Given the description of an element on the screen output the (x, y) to click on. 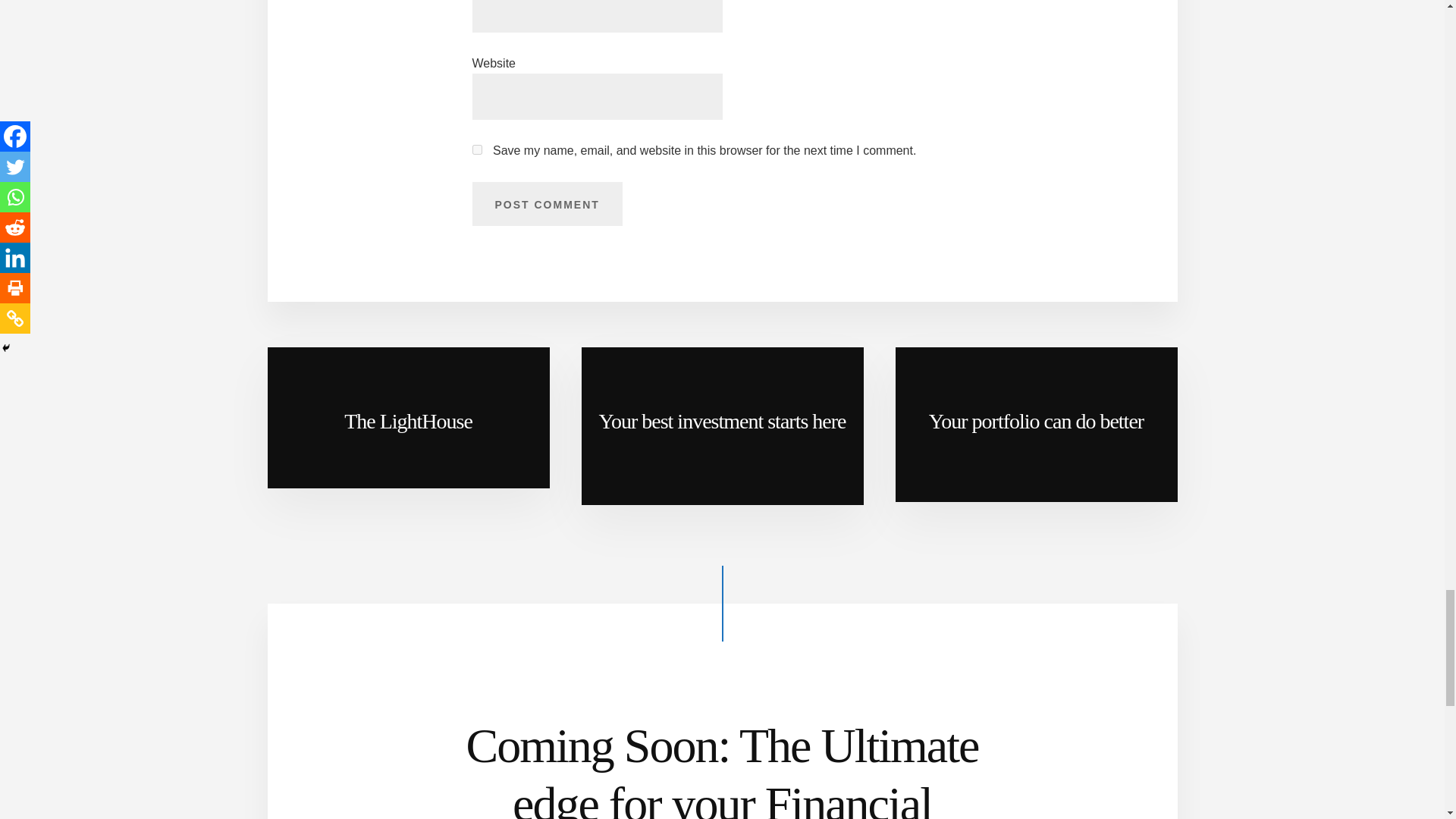
Your best investment starts here (721, 426)
Your portfolio can do better (1035, 424)
Post Comment (546, 203)
yes (476, 149)
The LightHouse (407, 417)
Post Comment (546, 203)
